Given the description of an element on the screen output the (x, y) to click on. 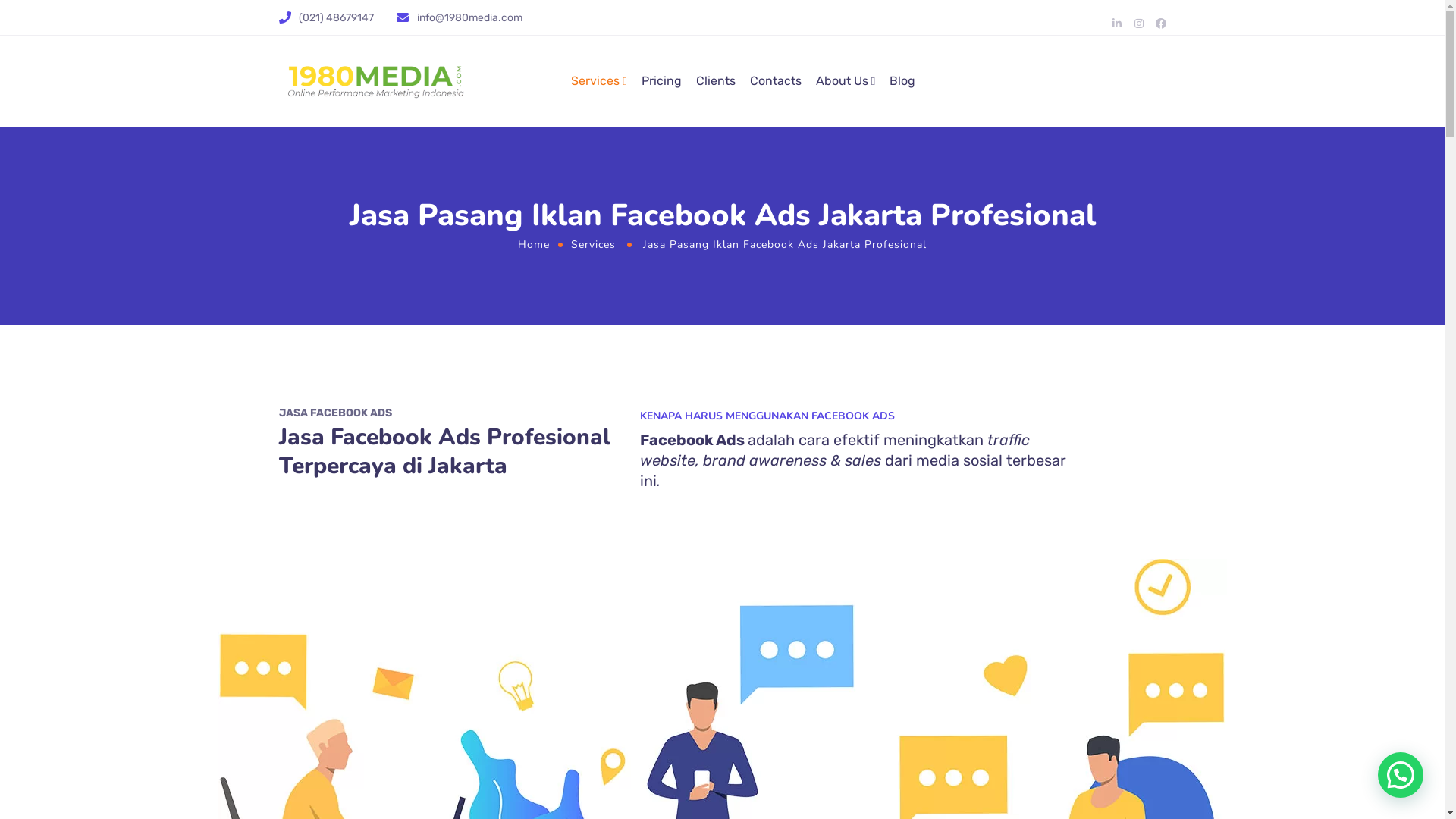
Pricing Element type: text (661, 80)
Blog Element type: text (902, 80)
Home Element type: text (533, 243)
About Us Element type: text (845, 80)
1980media Element type: hover (377, 80)
Contacts Element type: text (775, 80)
info@1980media.com Element type: text (469, 16)
Services Element type: text (598, 80)
Clients Element type: text (715, 80)
Services Element type: text (593, 243)
